Given the description of an element on the screen output the (x, y) to click on. 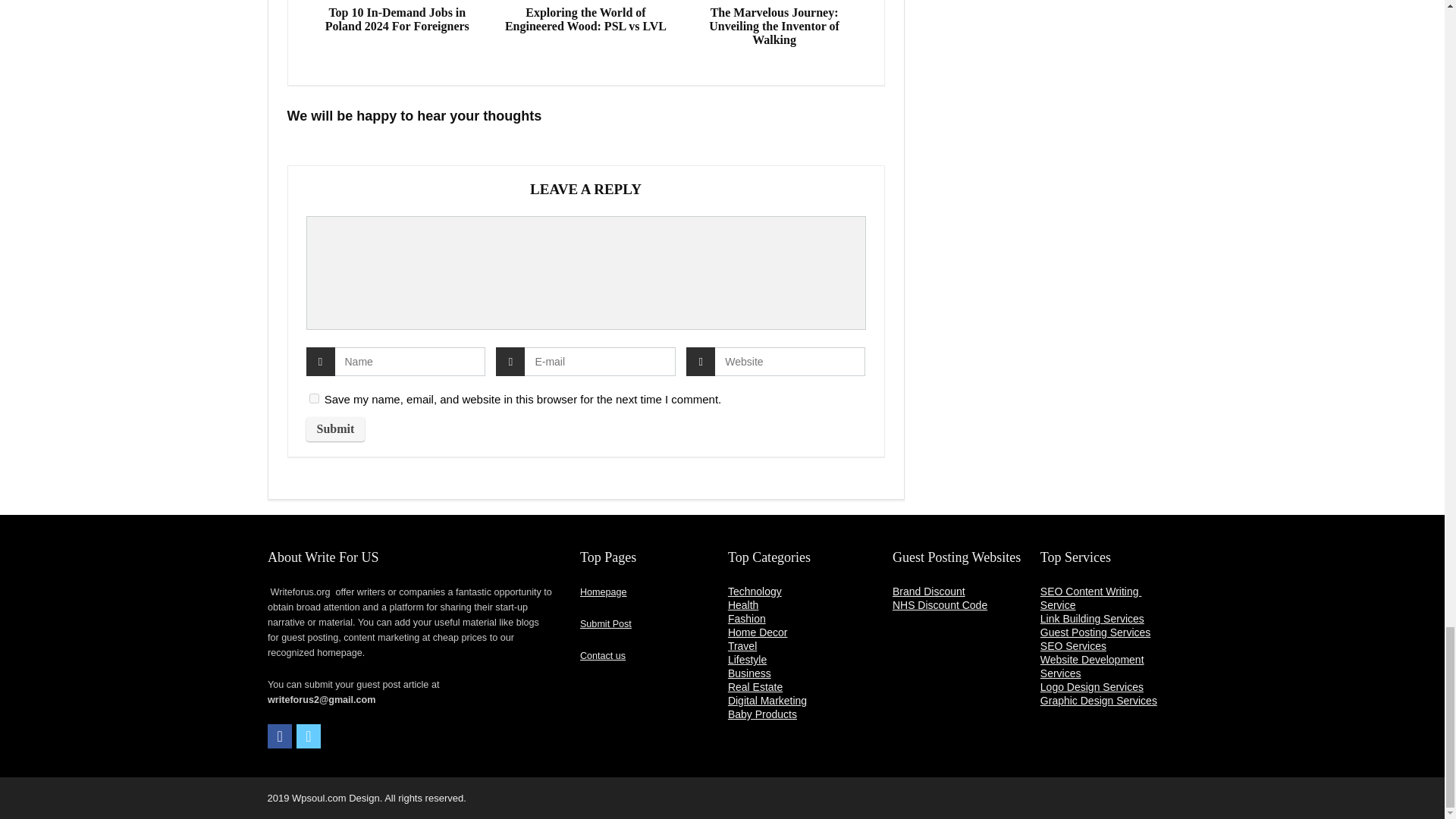
Exploring the World of Engineered Wood: PSL vs LVL (584, 19)
The Marvelous Journey: Unveiling the Inventor of Walking (774, 25)
Top 10 In-Demand Jobs in Poland 2024  For Foreigners (397, 19)
Submit (335, 428)
yes (313, 398)
